Given the description of an element on the screen output the (x, y) to click on. 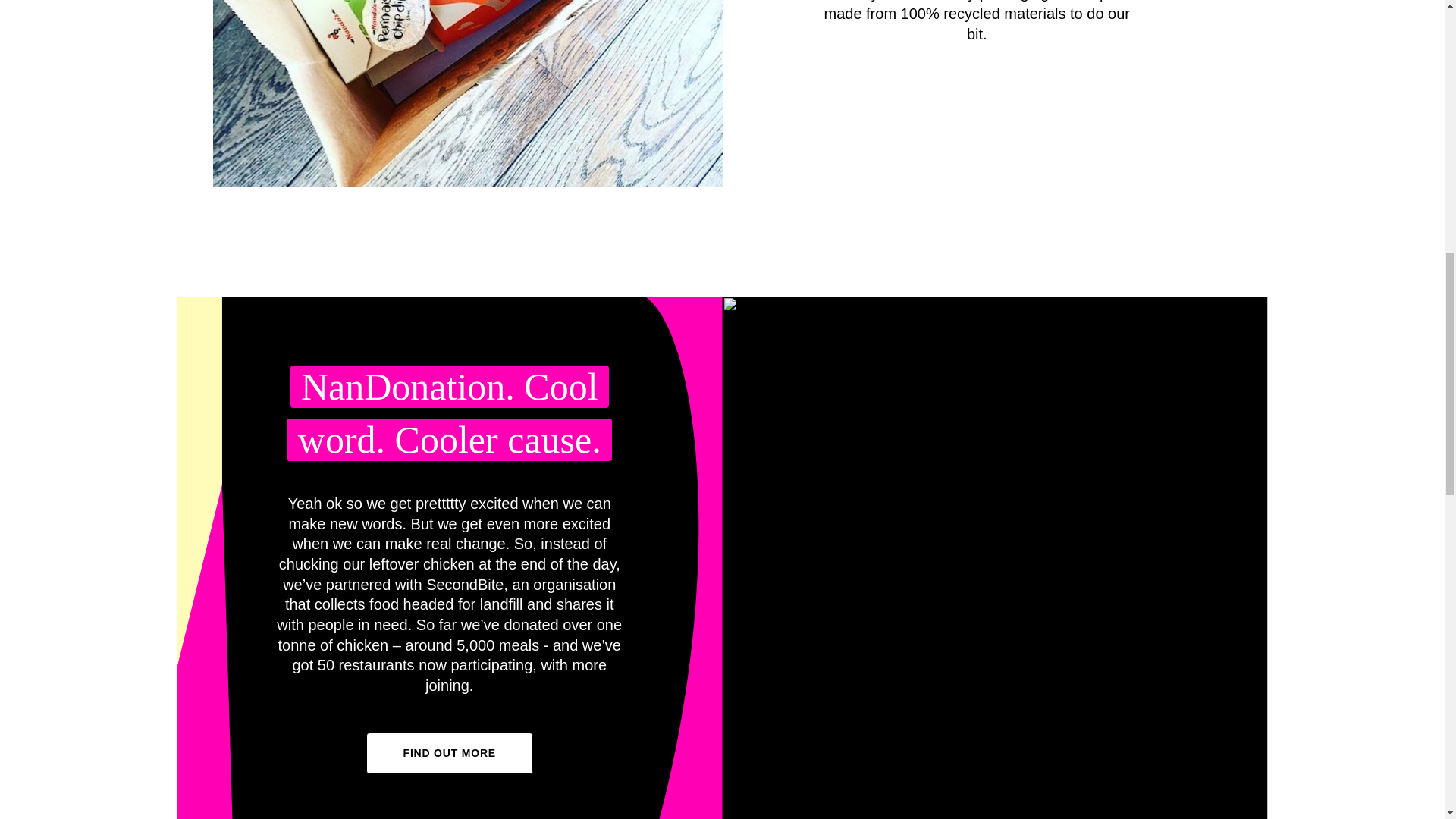
FIND OUT MORE (449, 752)
